Given the description of an element on the screen output the (x, y) to click on. 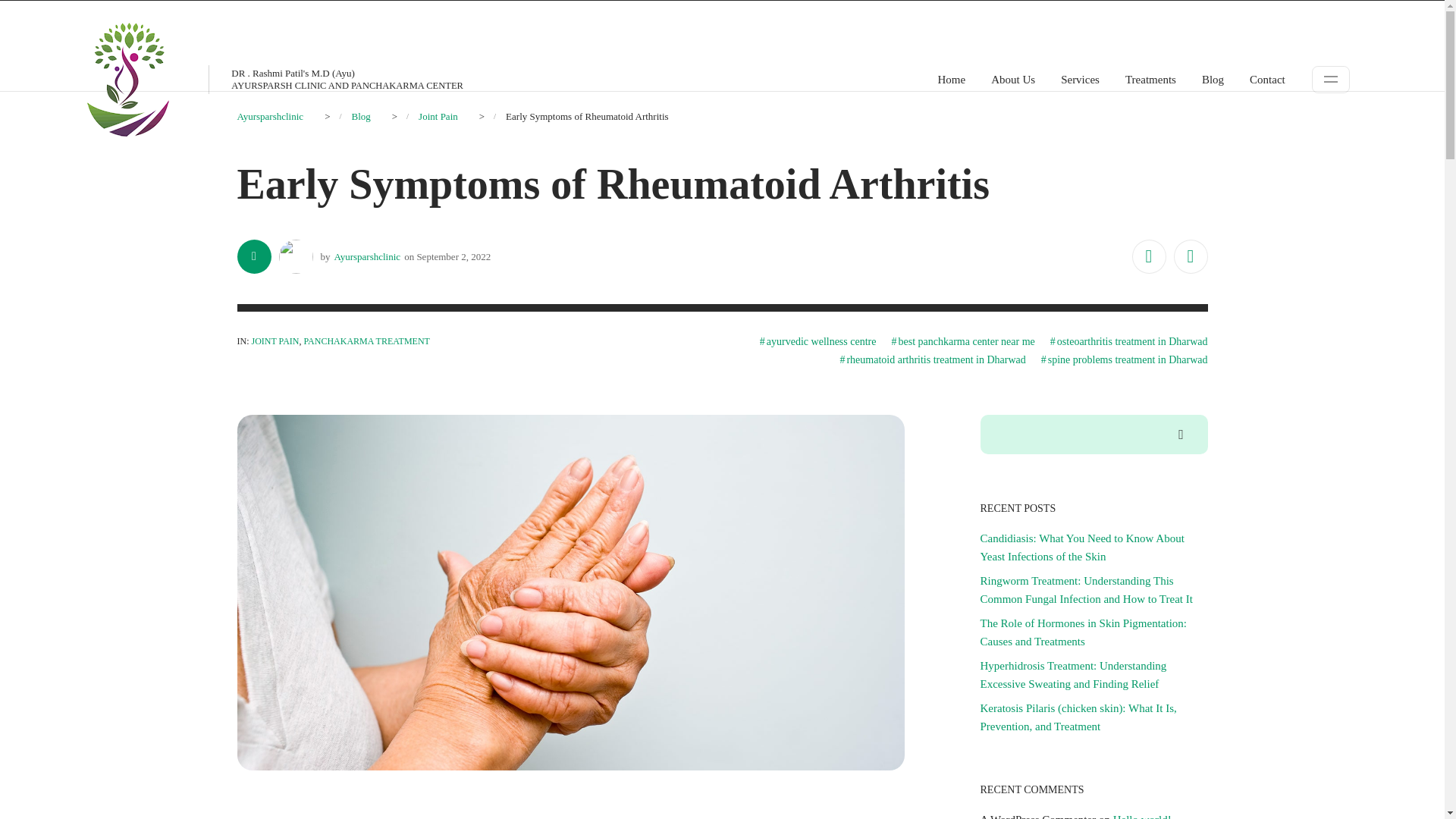
best panchkarma center near me (962, 341)
ayurvedic wellness centre (818, 341)
spine problems treatment in Dharwad (1124, 360)
Services (1080, 78)
AYURSPARSH CLINIC AND PANCHAKARMA CENTER (347, 85)
Treatments (1150, 78)
Go to Ayursparshclinic. (268, 116)
Blog (359, 116)
Posts by Ayursparshclinic (366, 256)
JOINT PAIN (275, 340)
Ayursparshclinic (268, 116)
rheumatoid arthritis treatment in Dharwad (932, 360)
Joint Pain (438, 116)
